Given the description of an element on the screen output the (x, y) to click on. 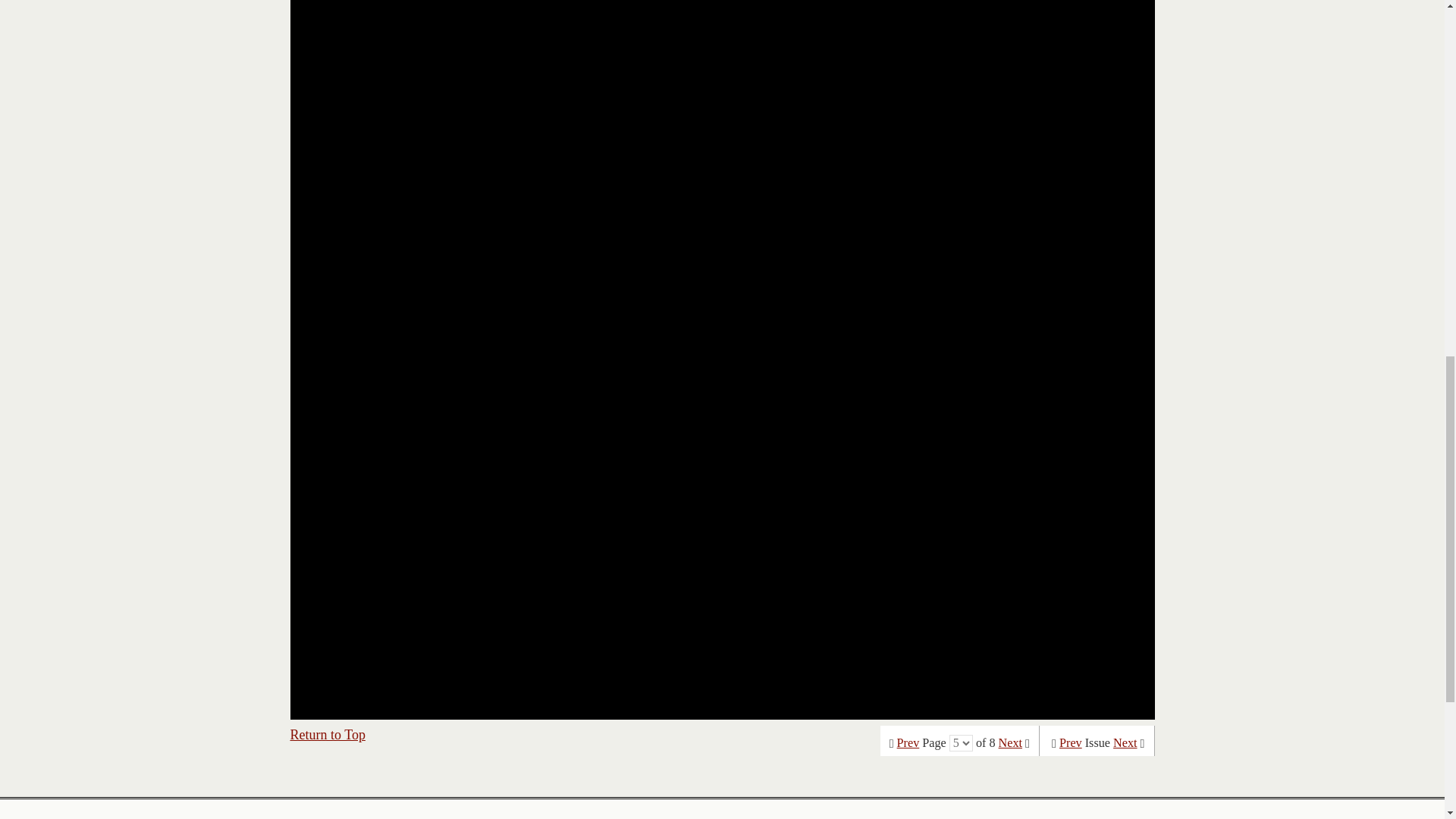
Prev (908, 743)
Return to Top (327, 734)
Prev (1070, 743)
Next (1010, 743)
Next (1125, 743)
